Given the description of an element on the screen output the (x, y) to click on. 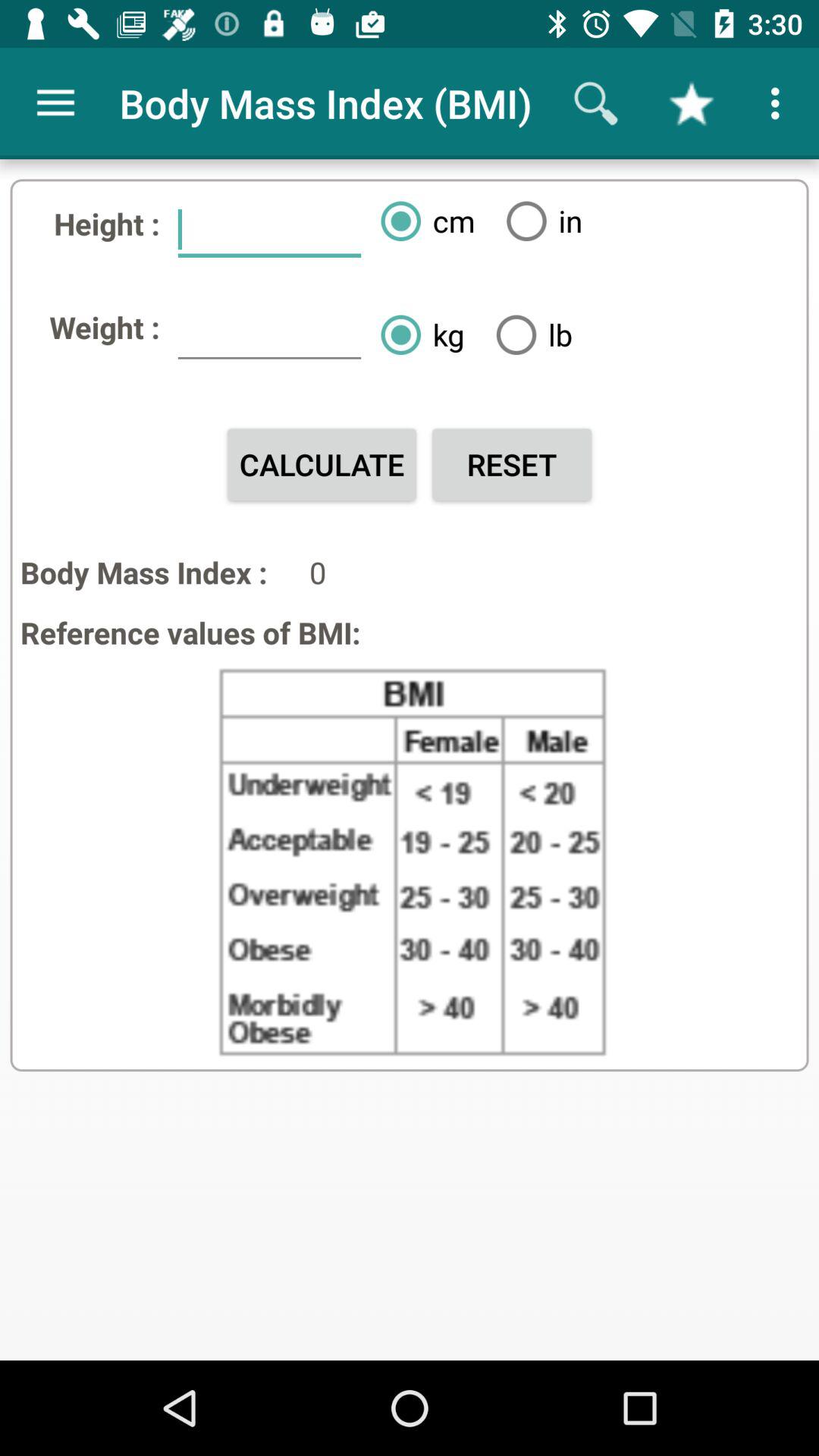
click icon to the left of in (421, 221)
